Given the description of an element on the screen output the (x, y) to click on. 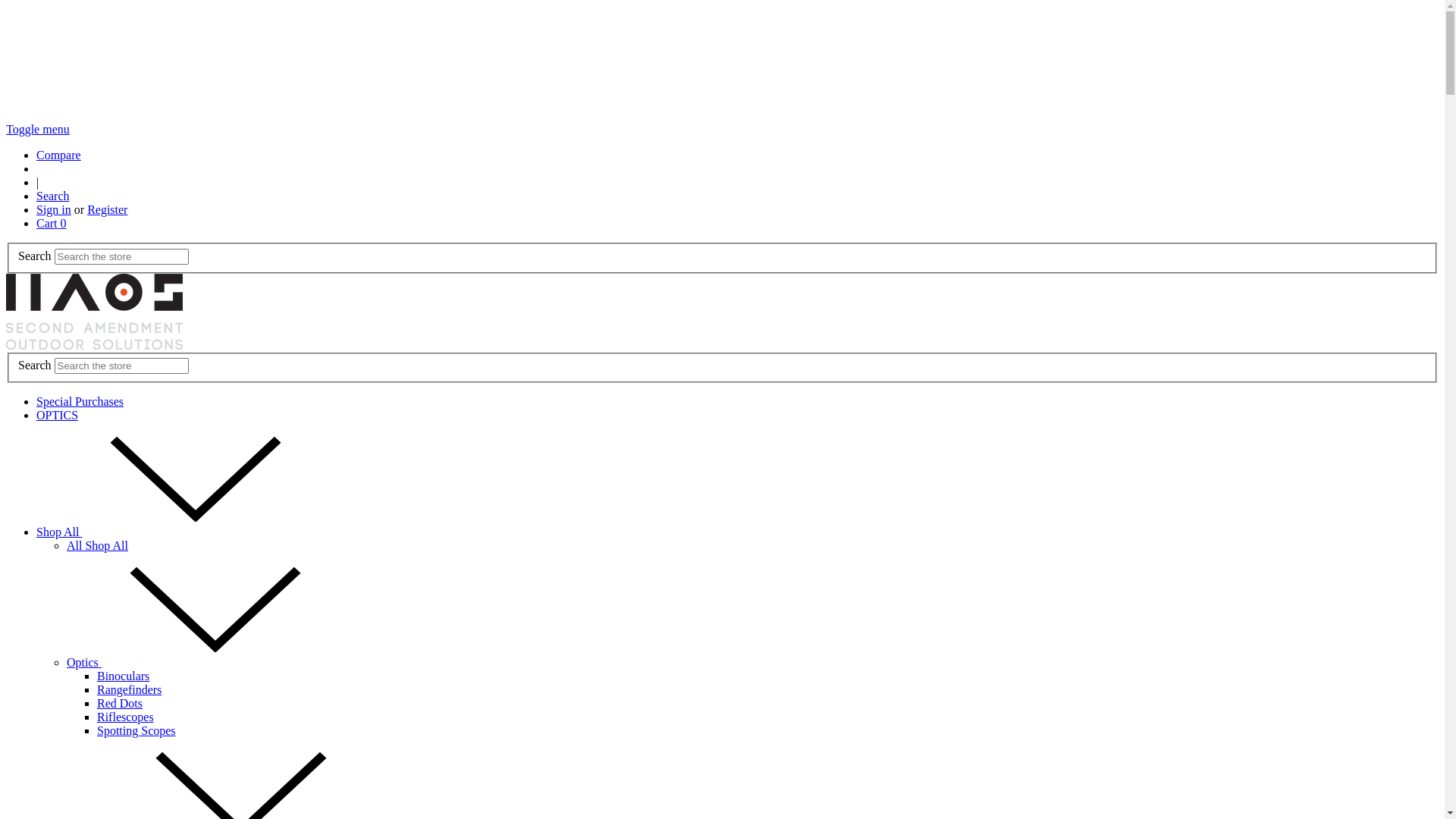
Binoculars Element type: text (123, 675)
Optics Element type: text (197, 661)
Register Element type: text (107, 209)
Spotting Scopes Element type: text (136, 730)
Compare Element type: text (58, 154)
Cart 0 Element type: text (51, 222)
Toggle menu Element type: text (37, 128)
2AOS.COM Element type: hover (94, 311)
Rangefinders Element type: text (129, 689)
All Shop All Element type: text (97, 545)
Red Dots Element type: text (119, 702)
Search Element type: text (52, 195)
Shop All Element type: text (172, 531)
OPTICS Element type: text (57, 414)
Sign in Element type: text (53, 209)
Special Purchases Element type: text (79, 401)
Riflescopes Element type: text (125, 716)
